Given the description of an element on the screen output the (x, y) to click on. 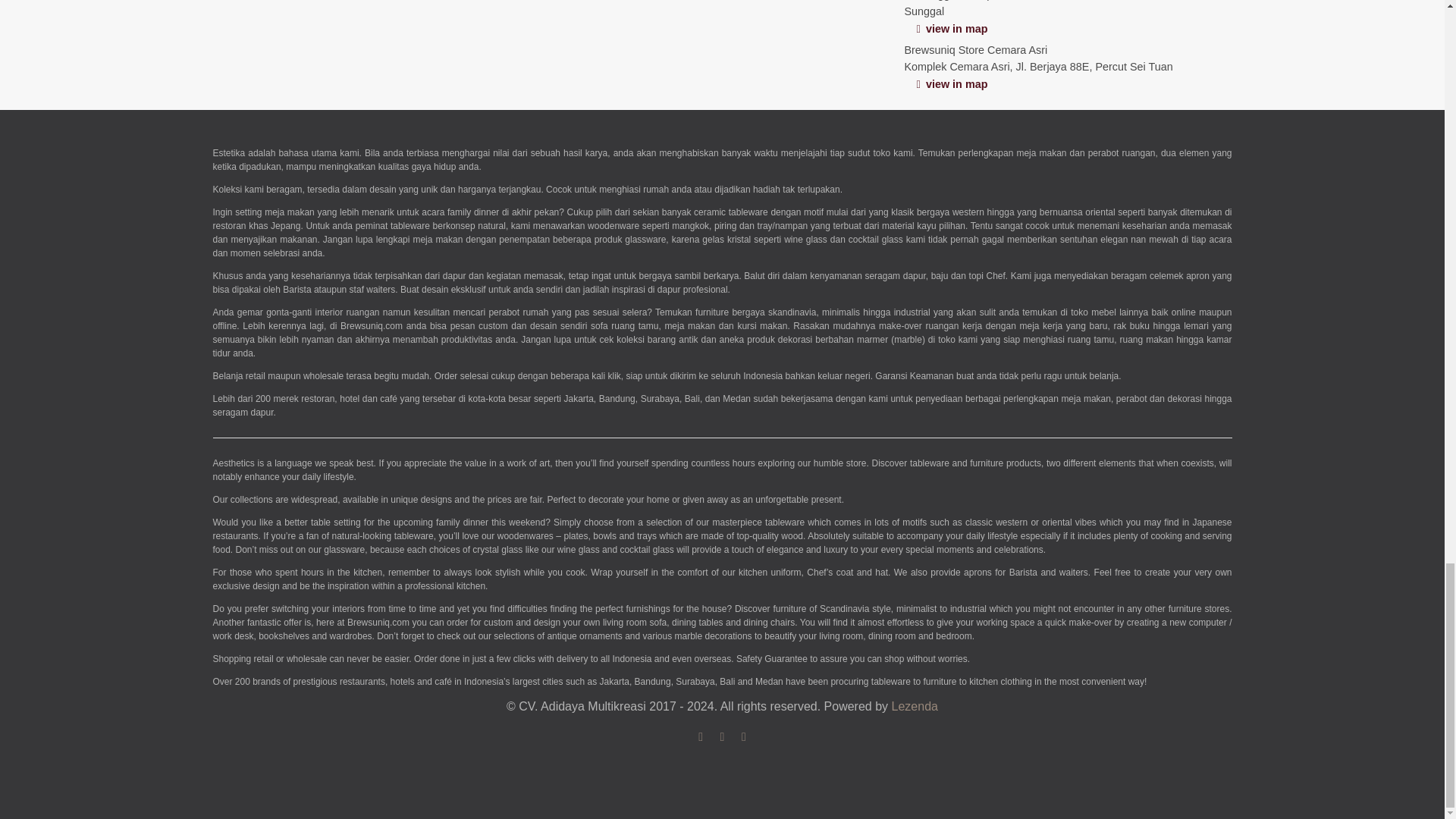
Lezenda (914, 706)
view in map (951, 83)
view in map (951, 28)
